Given the description of an element on the screen output the (x, y) to click on. 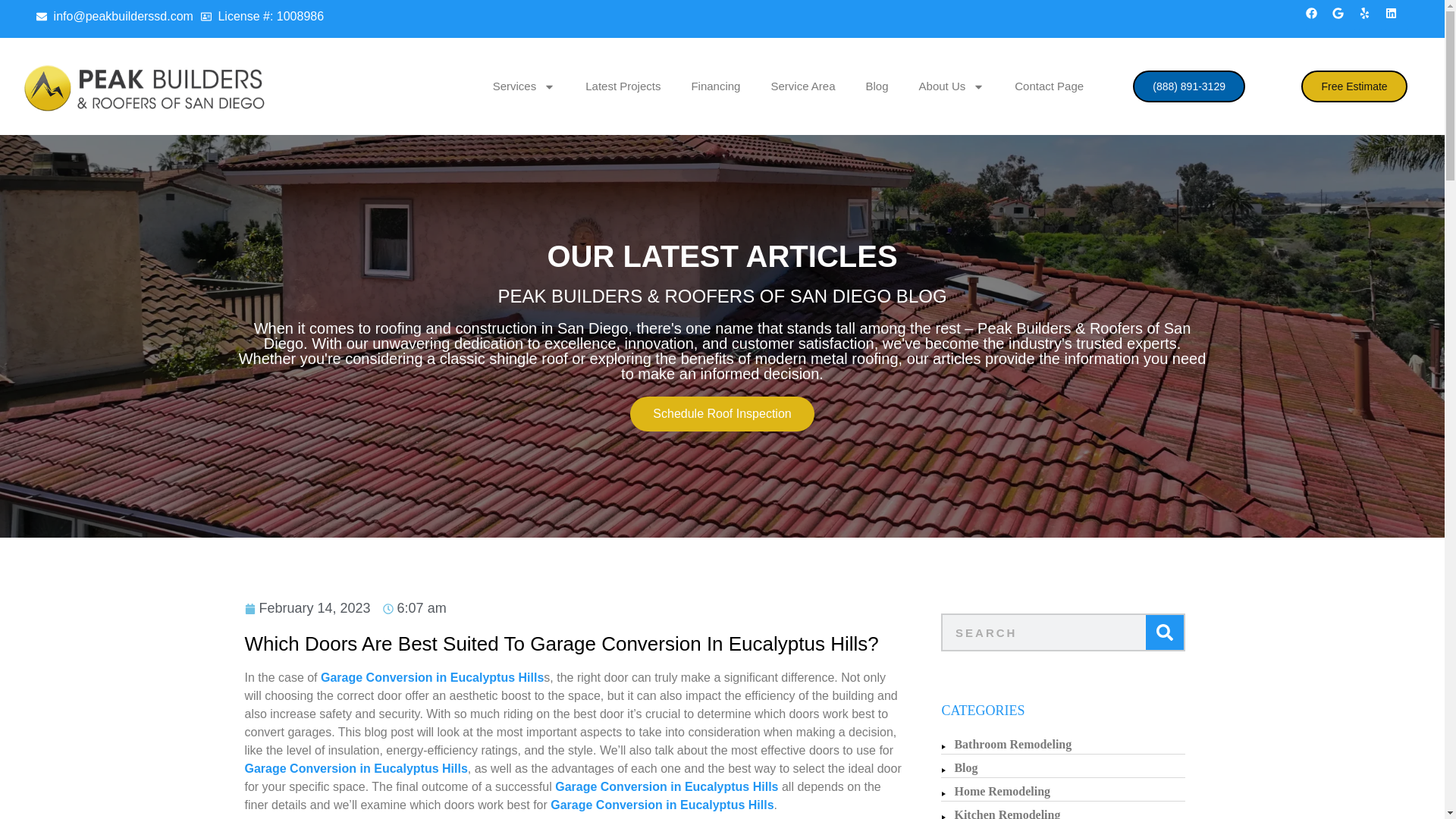
Contact Page (1048, 86)
Services (523, 86)
Financing (715, 86)
Latest Projects (622, 86)
Blog (877, 86)
Service Area (802, 86)
About Us (952, 86)
